Given the description of an element on the screen output the (x, y) to click on. 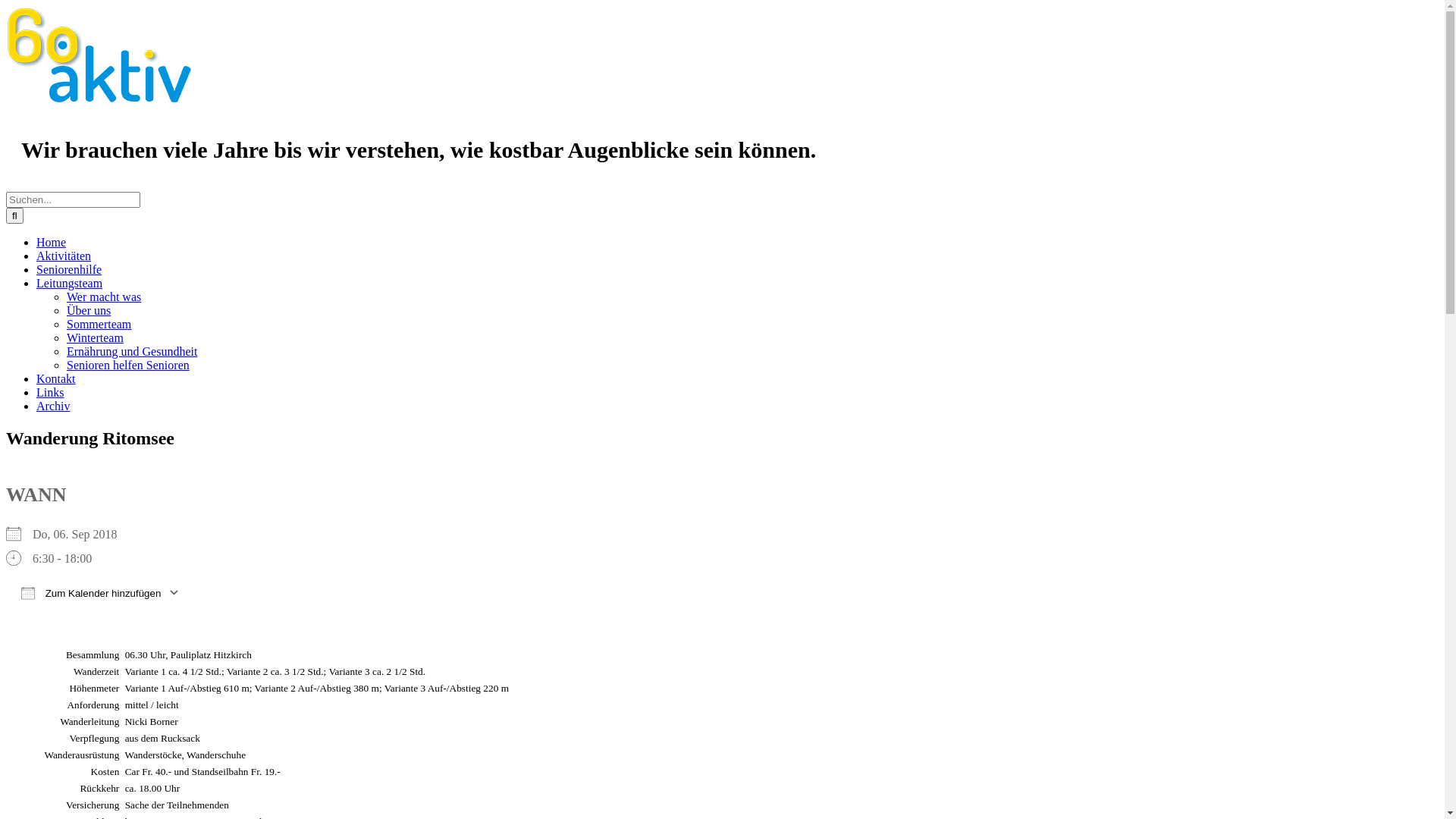
Home Element type: text (50, 241)
Senioren helfen Senioren Element type: text (127, 364)
Zum Inhalt springen Element type: text (5, 5)
Leitungsteam Element type: text (69, 282)
Sommerteam Element type: text (98, 323)
Seniorenhilfe Element type: text (68, 269)
Wer macht was Element type: text (103, 296)
ICS herunterladen Element type: text (23, 611)
Links Element type: text (49, 391)
Winterteam Element type: text (94, 337)
Kontakt Element type: text (55, 378)
Archiv Element type: text (52, 405)
